Given the description of an element on the screen output the (x, y) to click on. 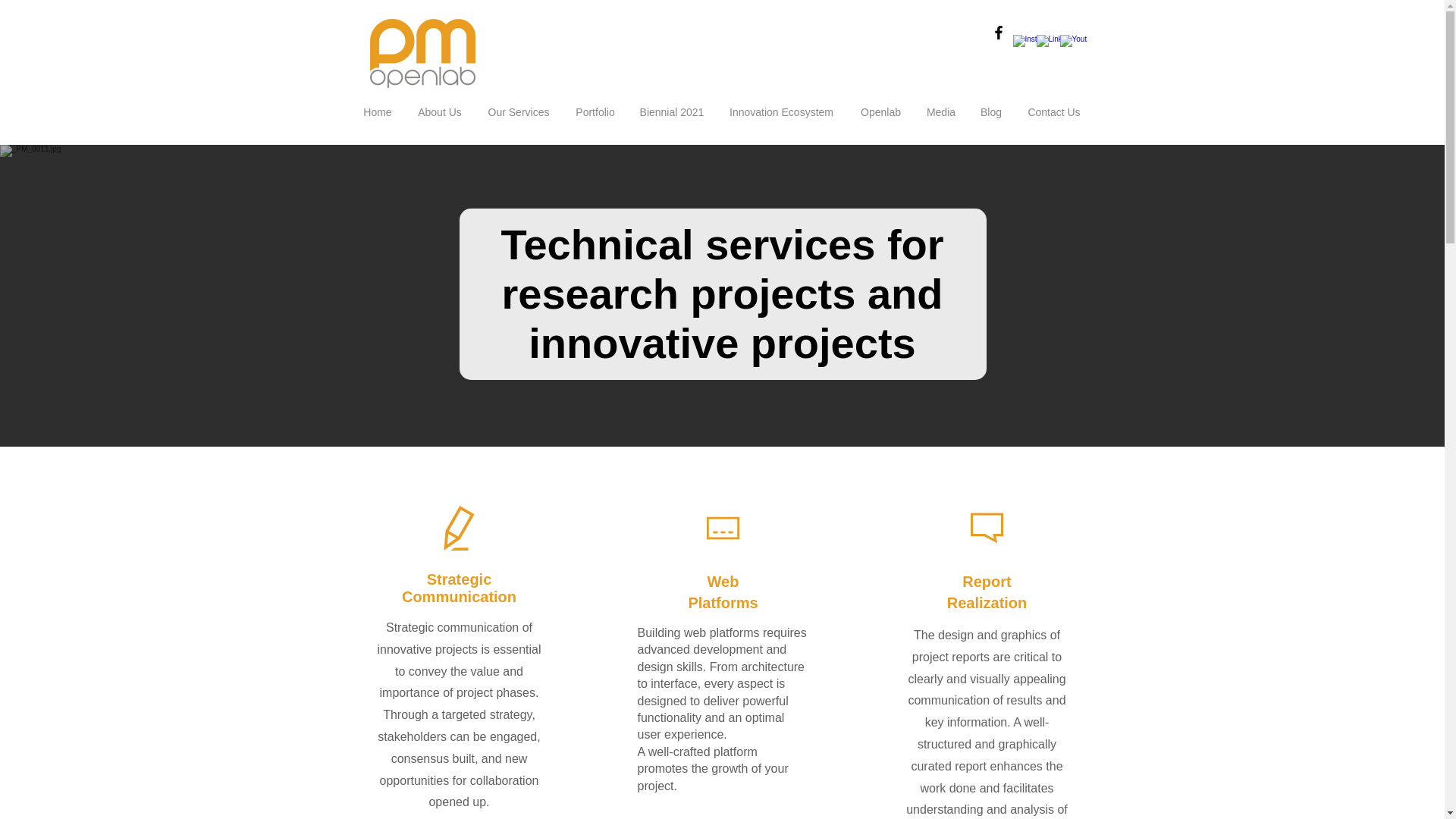
Portfolio (595, 112)
Blog (990, 112)
About Us (440, 112)
Biennial 2021 (670, 112)
Openlab (880, 112)
Innovation Ecosystem (781, 112)
Logo PMopenlab (422, 52)
Contact Us (1054, 112)
Home (377, 112)
Media (941, 112)
